Given the description of an element on the screen output the (x, y) to click on. 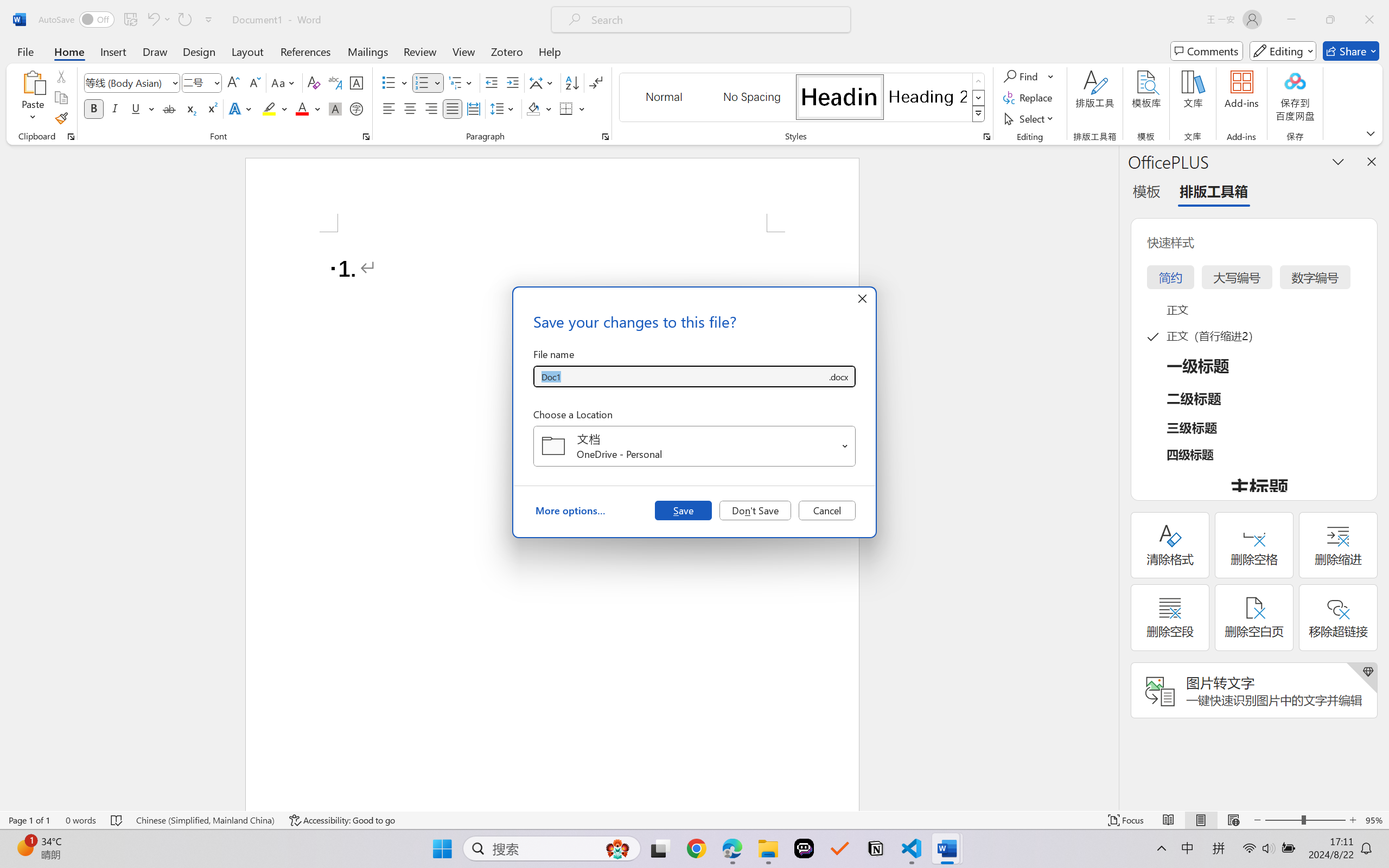
Don't Save (755, 509)
Repeat Number Default (184, 19)
